Given the description of an element on the screen output the (x, y) to click on. 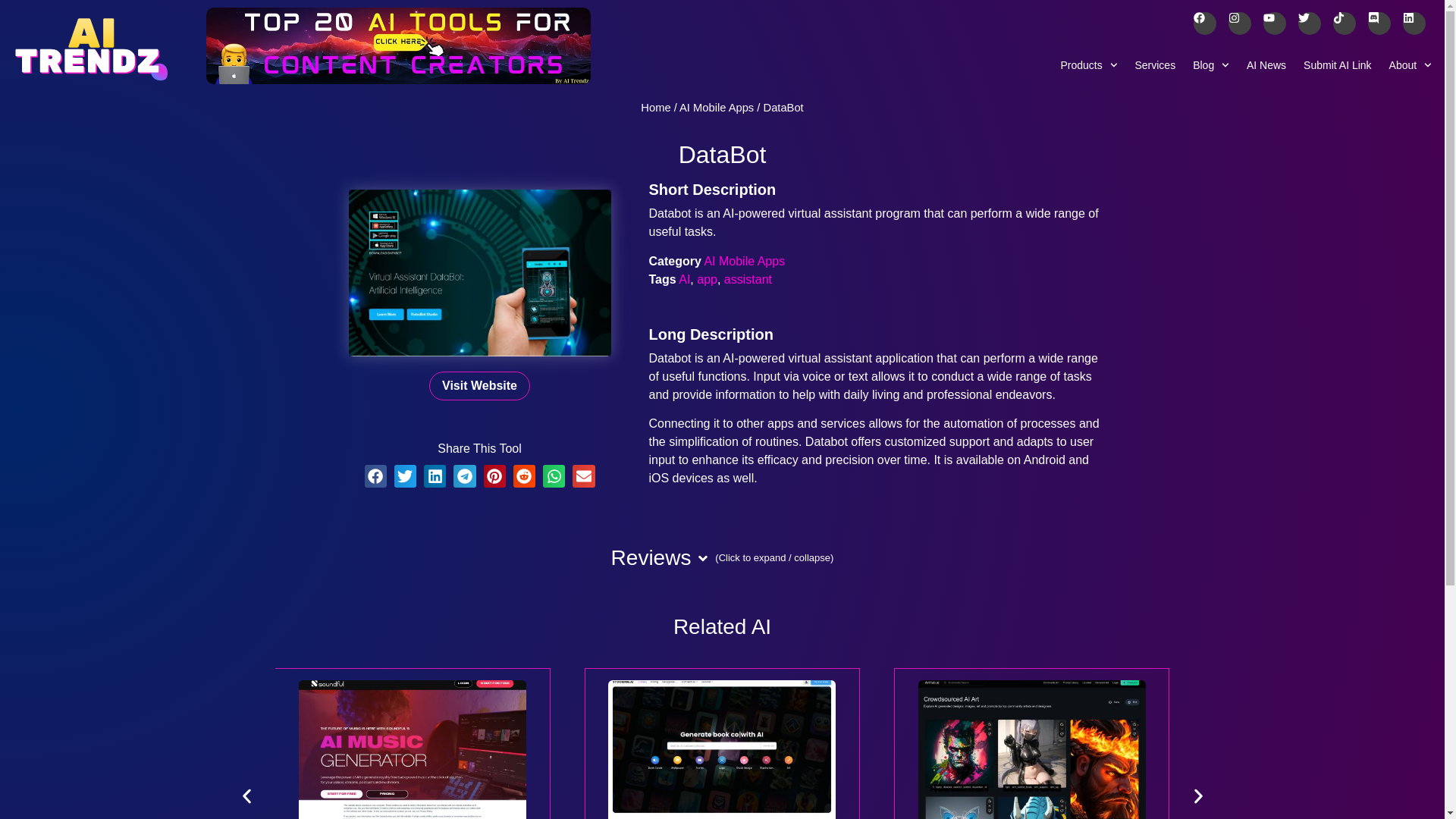
Services (1154, 64)
Submit AI Link (1337, 64)
Blog (1211, 64)
AI News (1266, 64)
Products (1088, 64)
About (1410, 64)
